Given the description of an element on the screen output the (x, y) to click on. 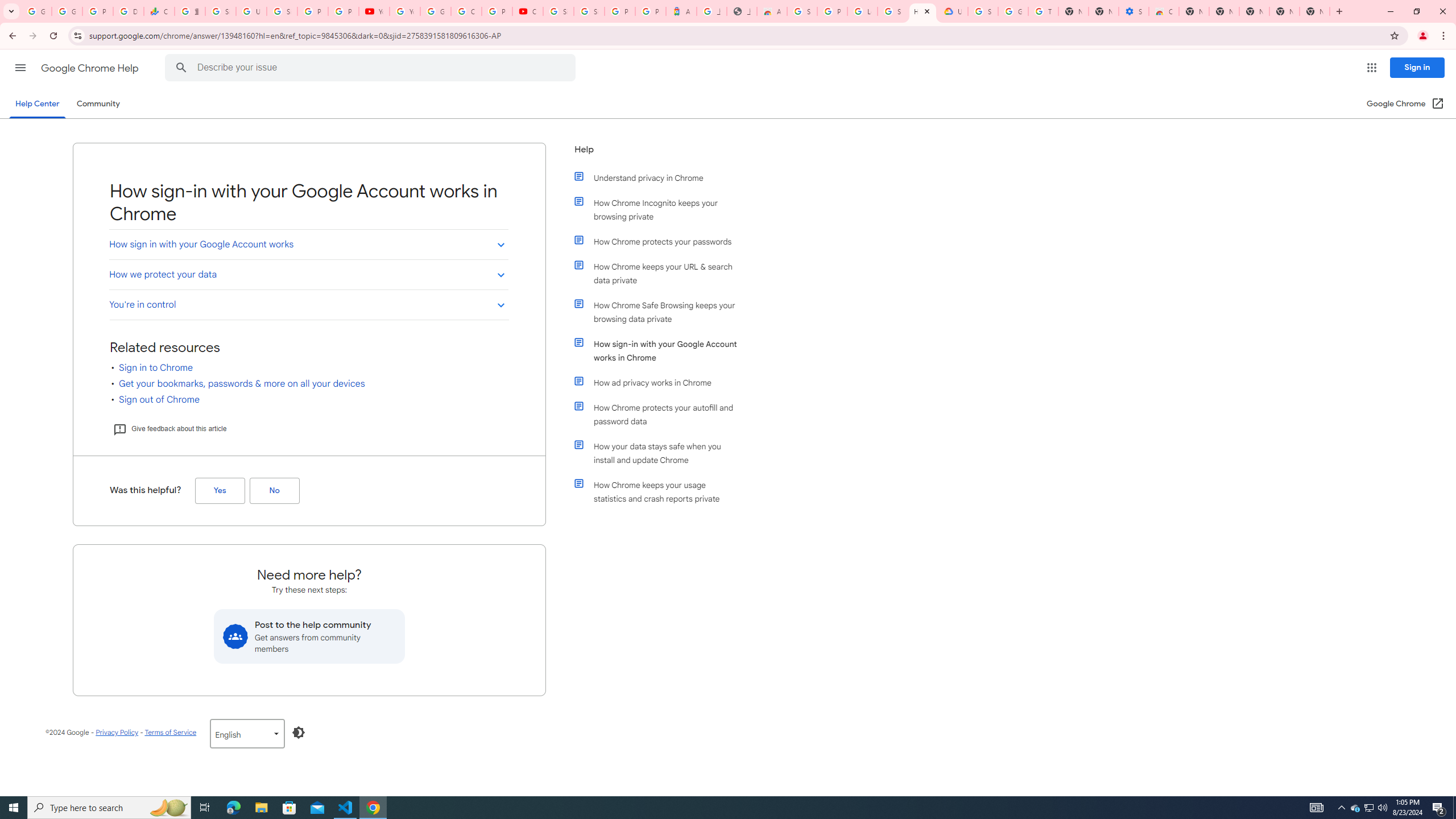
No (Was this helpful?) (273, 490)
Help Center (36, 103)
Google Chrome Help (90, 68)
Main menu (20, 67)
YouTube (373, 11)
Enable Dark Mode (299, 732)
Sign in - Google Accounts (589, 11)
Google Workspace Admin Community (36, 11)
